Given the description of an element on the screen output the (x, y) to click on. 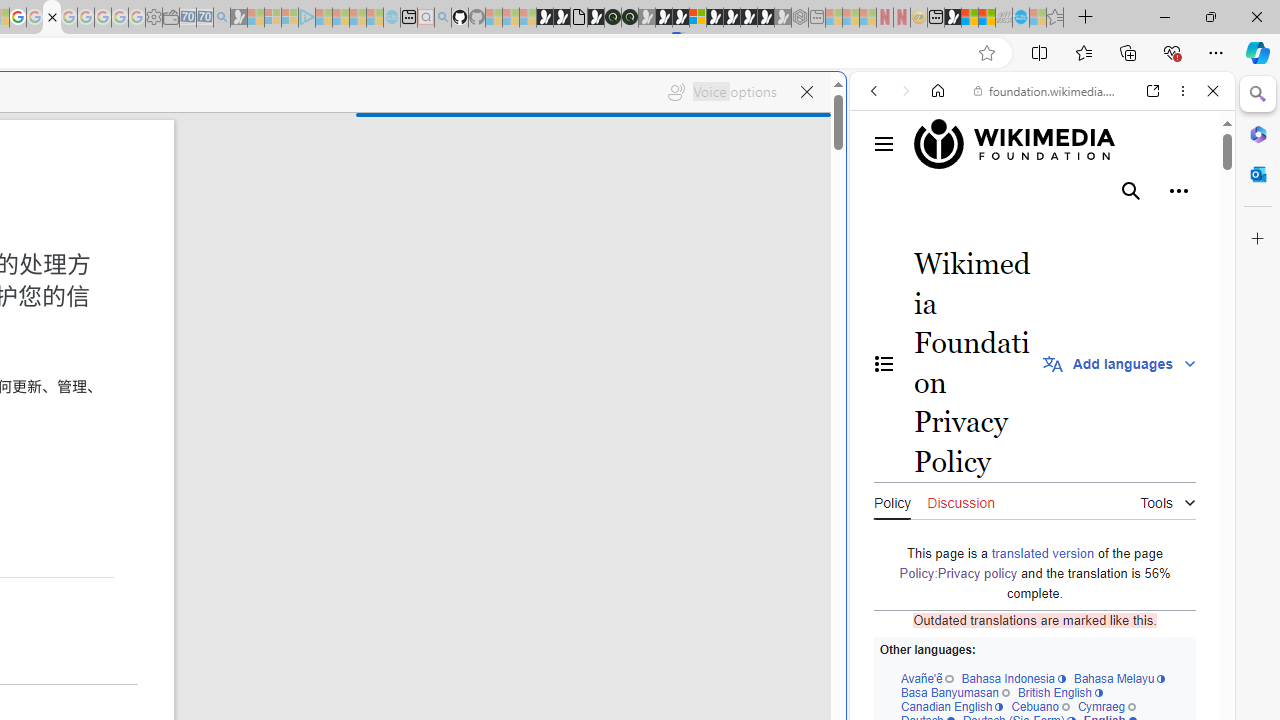
Favorites - Sleeping (1055, 17)
Sign in to your account (697, 17)
Forward (906, 91)
google_privacy_policy_zh-CN.pdf (51, 17)
Personal tools (1178, 191)
Canadian English (951, 706)
Policy:Privacy policy (957, 573)
Services - Maintenance | Sky Blue Bikes - Sky Blue Bikes (1020, 17)
World - MSN (969, 17)
Bing Real Estate - Home sales and rental listings - Sleeping (221, 17)
